Given the description of an element on the screen output the (x, y) to click on. 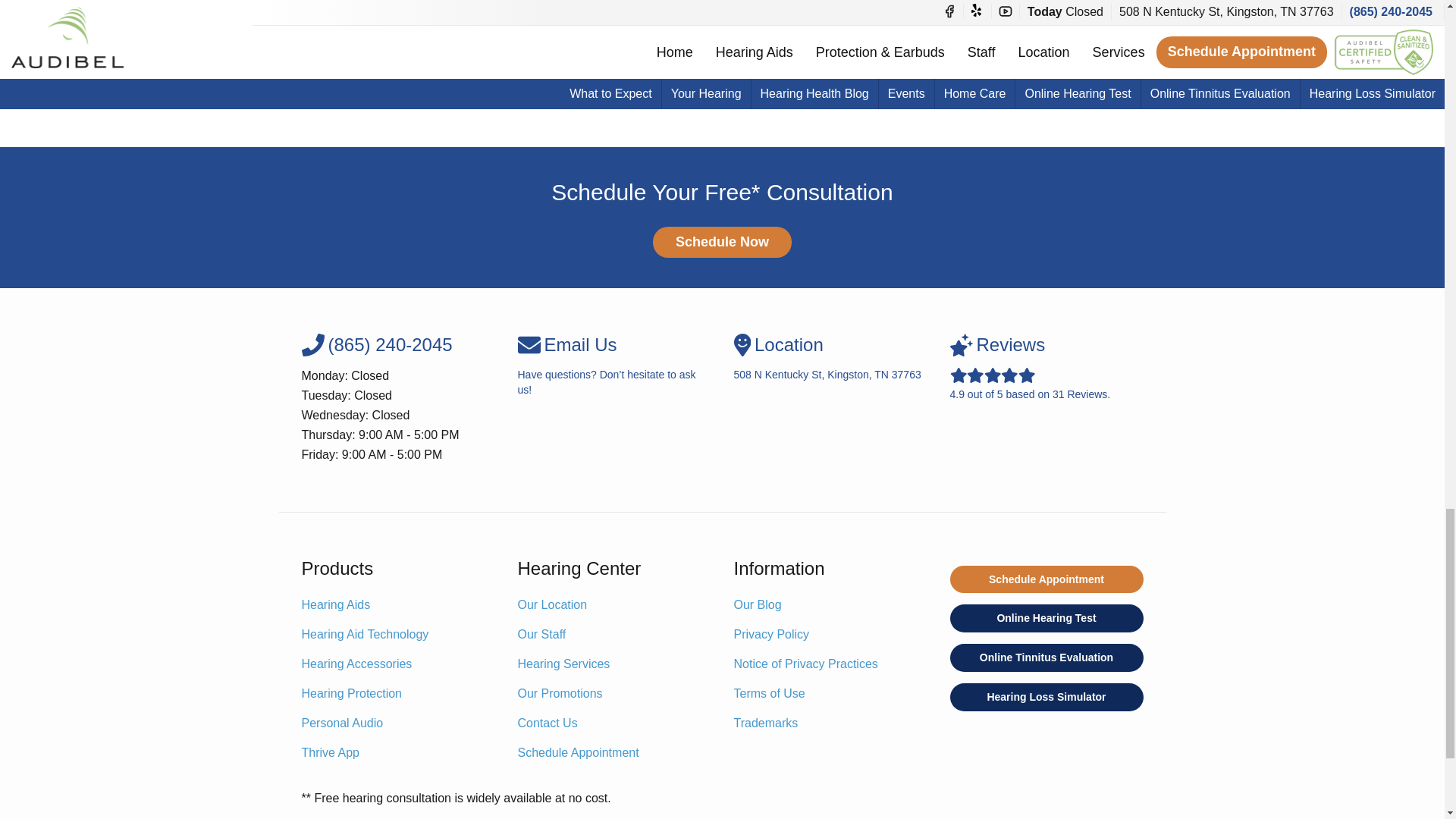
Schedule Now (722, 242)
